Given the description of an element on the screen output the (x, y) to click on. 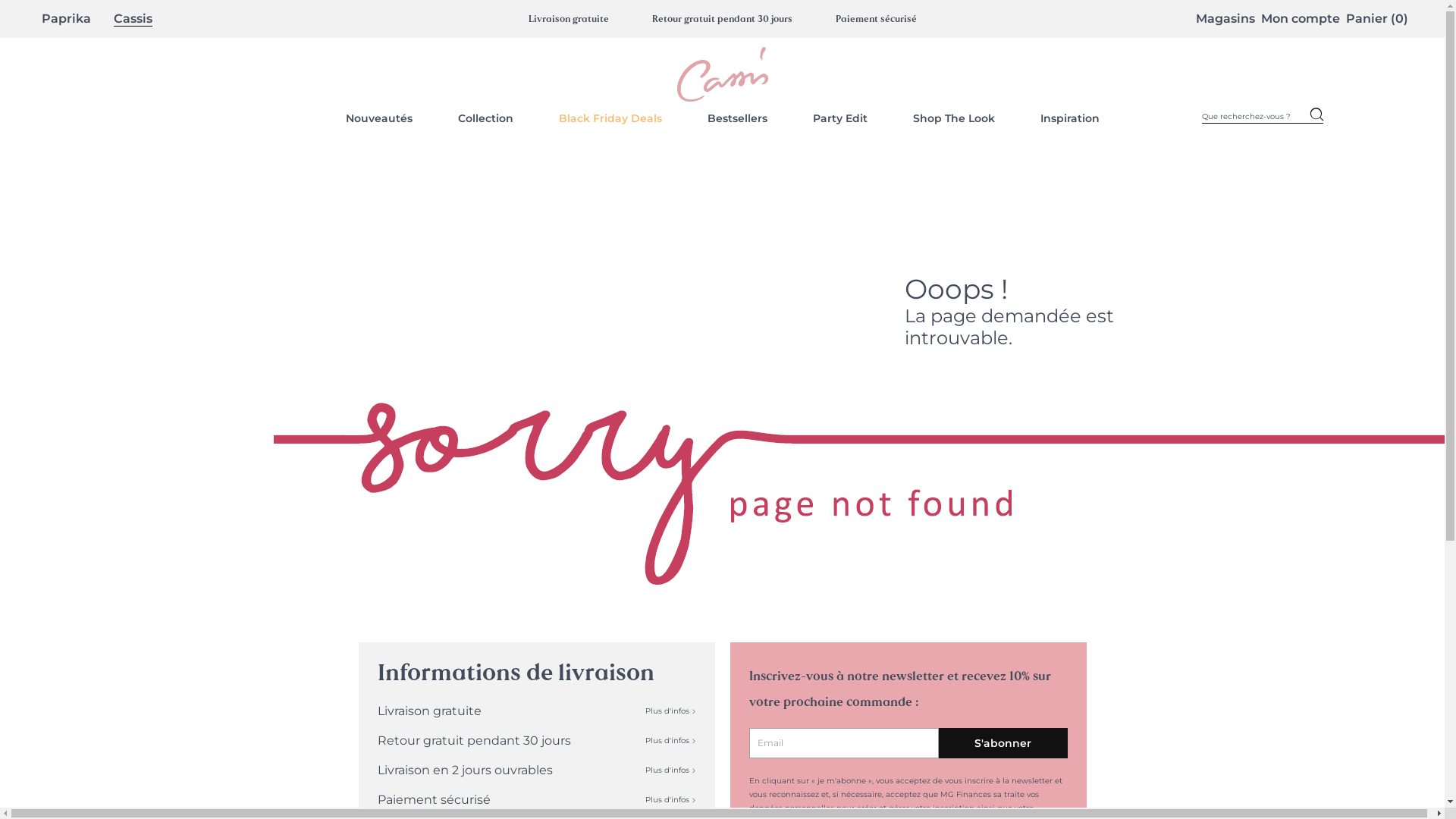
RECHERCHER Element type: text (1316, 116)
Shop The Look Element type: text (953, 118)
Inspiration Element type: text (1069, 118)
Plus d'infos Element type: text (669, 799)
Bestsellers Element type: text (736, 118)
Plus d'infos Element type: text (669, 769)
Party Edit Element type: text (840, 118)
Plus d'infos Element type: text (669, 710)
Black Friday Deals Element type: text (609, 118)
Collection Element type: text (485, 118)
Cassis Element type: text (132, 18)
Magasins Element type: text (1225, 18)
Paprika Element type: text (66, 18)
Accueil de Paprika Element type: hover (721, 74)
S'abonner Element type: text (1002, 743)
Plus d'infos Element type: text (669, 740)
